Given the description of an element on the screen output the (x, y) to click on. 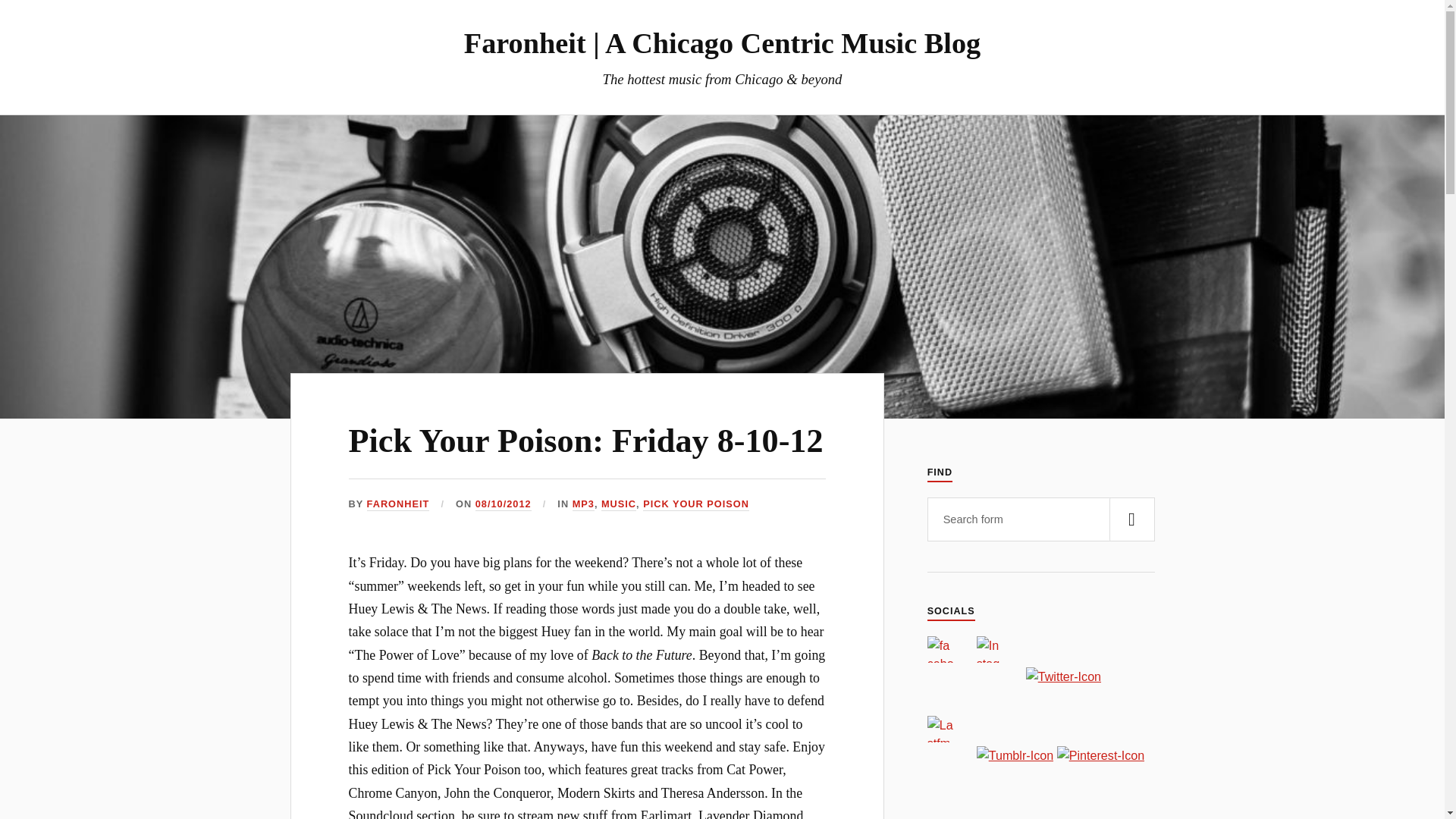
FARONHEIT (397, 504)
Pick Your Poison: Friday 8-10-12 (586, 440)
Posts by Faronheit (397, 504)
MUSIC (618, 504)
MP3 (583, 504)
PICK YOUR POISON (696, 504)
